Given the description of an element on the screen output the (x, y) to click on. 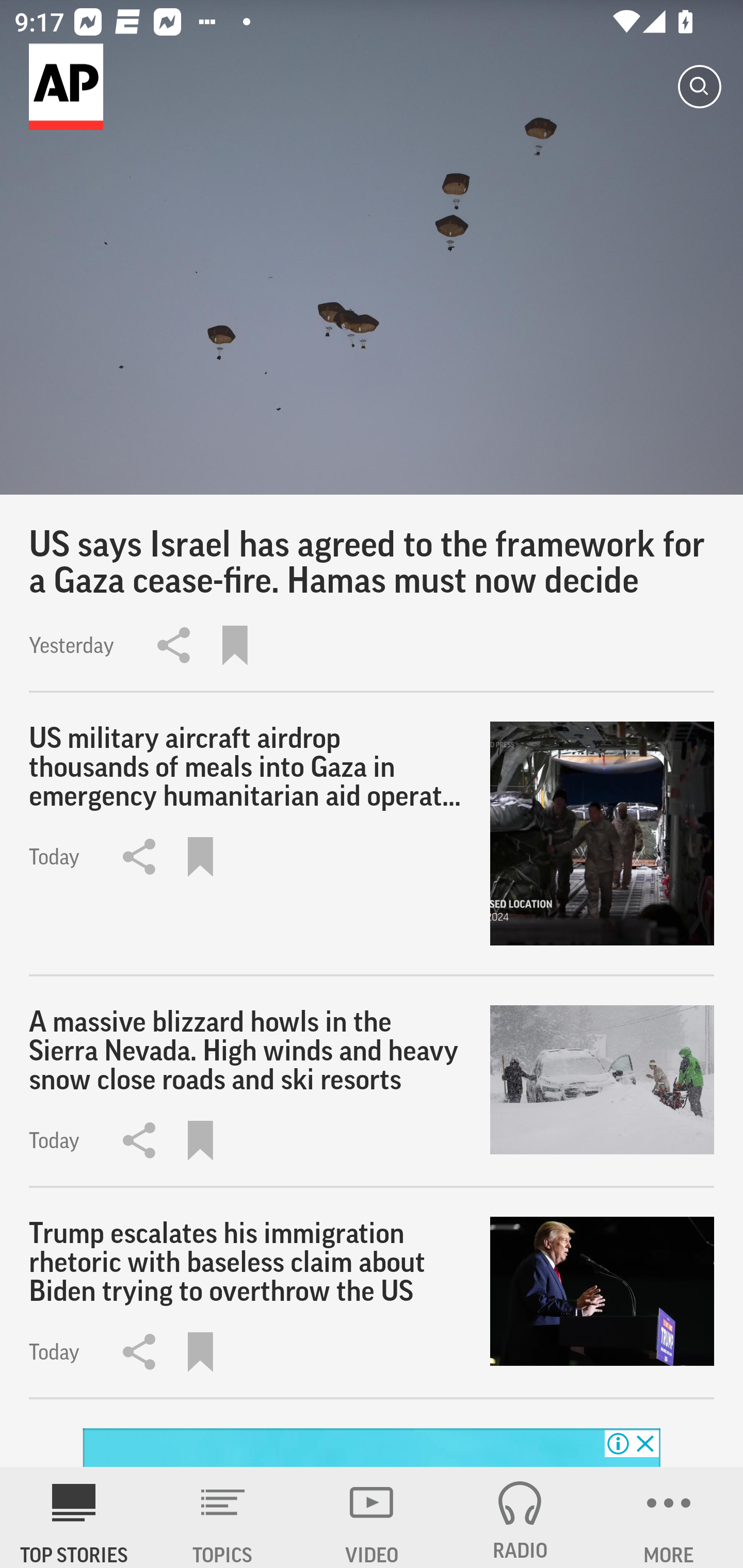
AP News TOP STORIES (74, 1517)
TOPICS (222, 1517)
VIDEO (371, 1517)
RADIO (519, 1517)
MORE (668, 1517)
